Given the description of an element on the screen output the (x, y) to click on. 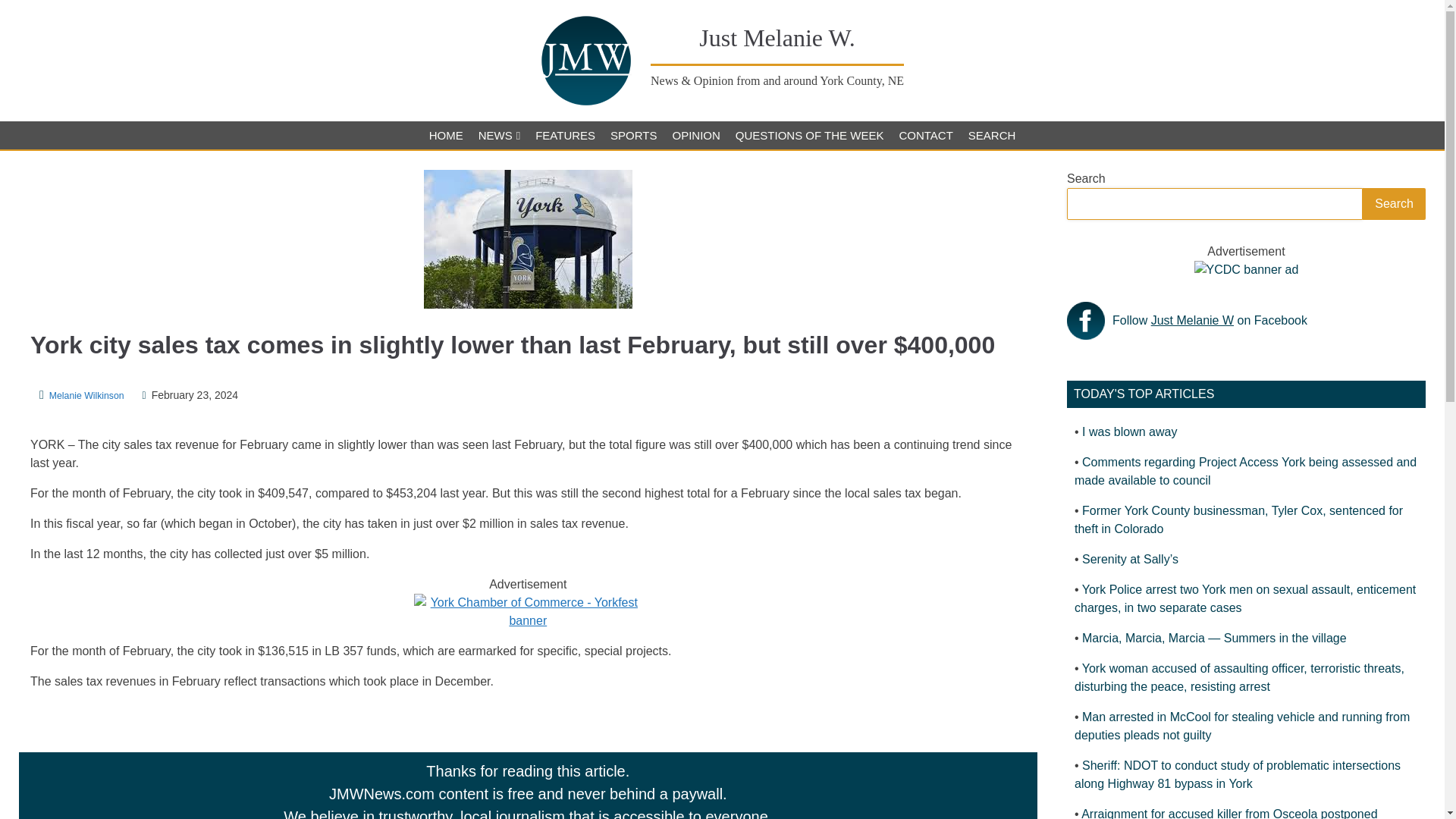
HOME (446, 135)
Follow Just Melanie W on Facebook (1209, 321)
SEARCH (991, 135)
Just Melanie W. (776, 37)
FEATURES (564, 135)
Search (1393, 204)
Melanie Wilkinson (86, 394)
CONTACT (925, 135)
SPORTS (632, 135)
NEWS (498, 135)
OPINION (694, 135)
I was blown away (1128, 431)
QUESTIONS OF THE WEEK (809, 135)
